Given the description of an element on the screen output the (x, y) to click on. 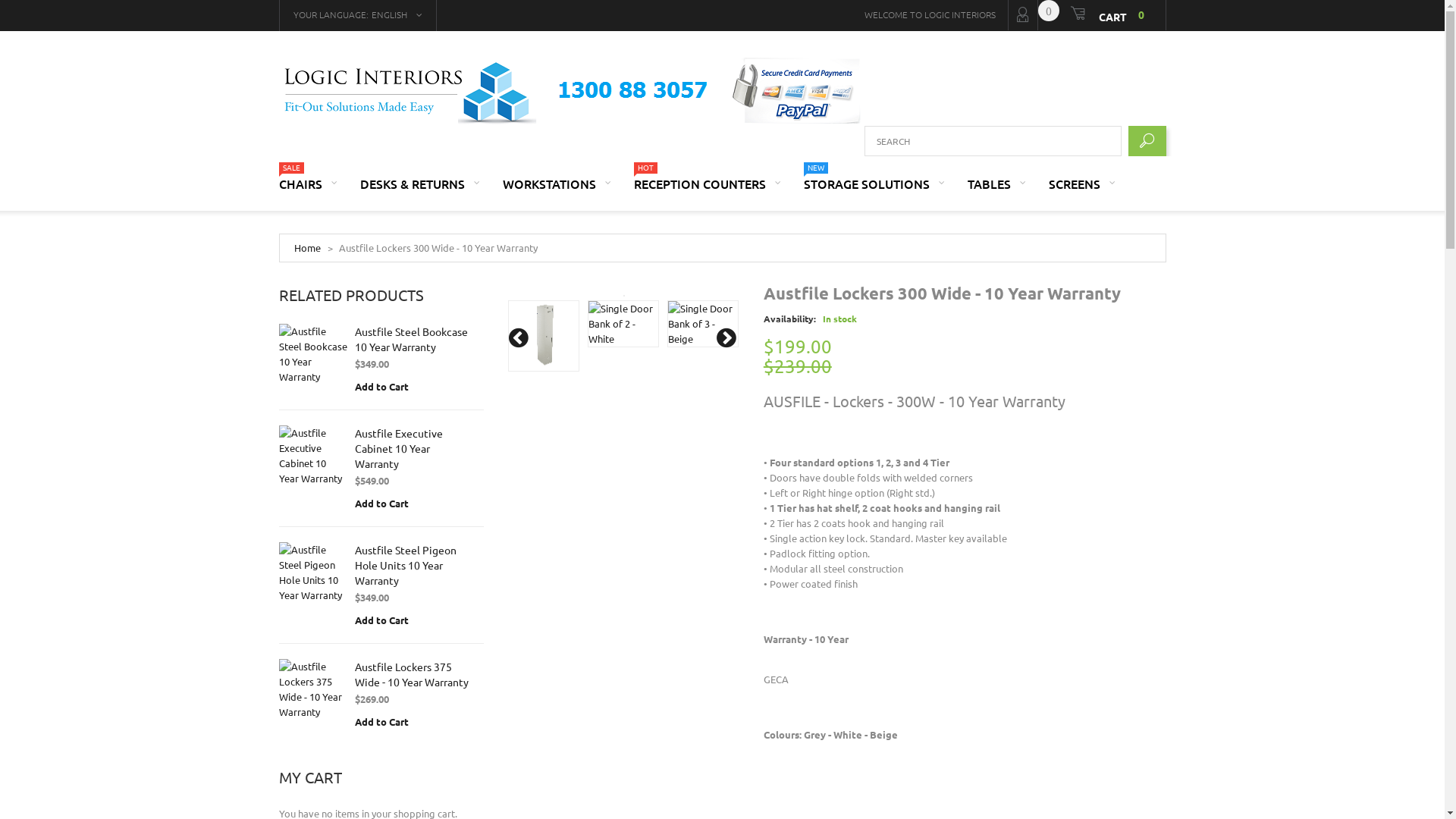
DESKS & RETURNS Element type: text (419, 192)
Austfile Executive Cabinet 10 Year Warranty Element type: text (398, 448)
Home Element type: text (307, 247)
Add to Cart Element type: text (381, 619)
Austfile Lockers 375 Wide - 10 Year Warranty Element type: text (411, 673)
ENGLISH Element type: text (396, 14)
Add to Cart Element type: text (381, 721)
Austfile Steel Pigeon Hole Units 10 Year Warranty Element type: text (405, 564)
Single Door Bank of 2 - White Element type: hover (622, 323)
Austfile Steel Pigeon Hole Units 10 Year Warranty Element type: hover (313, 572)
Austfile Steel Bookcase 10 Year Warranty Element type: text (410, 338)
Austfile Executive Cabinet 10 Year Warranty Element type: hover (313, 455)
WORKSTATIONS Element type: text (556, 192)
Single Door Bank of 3 - Beige Element type: hover (702, 323)
Add to Cart Element type: text (381, 502)
Logic Interiors Element type: hover (574, 91)
RECEPTION COUNTERS
HOT Element type: text (707, 192)
Search Element type: hover (1147, 140)
Austfile Lockers 375 Wide - 10 Year Warranty Element type: hover (313, 688)
CHAIRS
SALE Element type: text (308, 192)
Single Door - Single Bank - Grey Element type: hover (543, 335)
SCREENS Element type: text (1081, 192)
Austfile Steel Bookcase 10 Year Warranty Element type: hover (313, 353)
STORAGE SOLUTIONS
NEW Element type: text (873, 192)
TABLES Element type: text (996, 192)
Add to Cart Element type: text (381, 385)
